Given the description of an element on the screen output the (x, y) to click on. 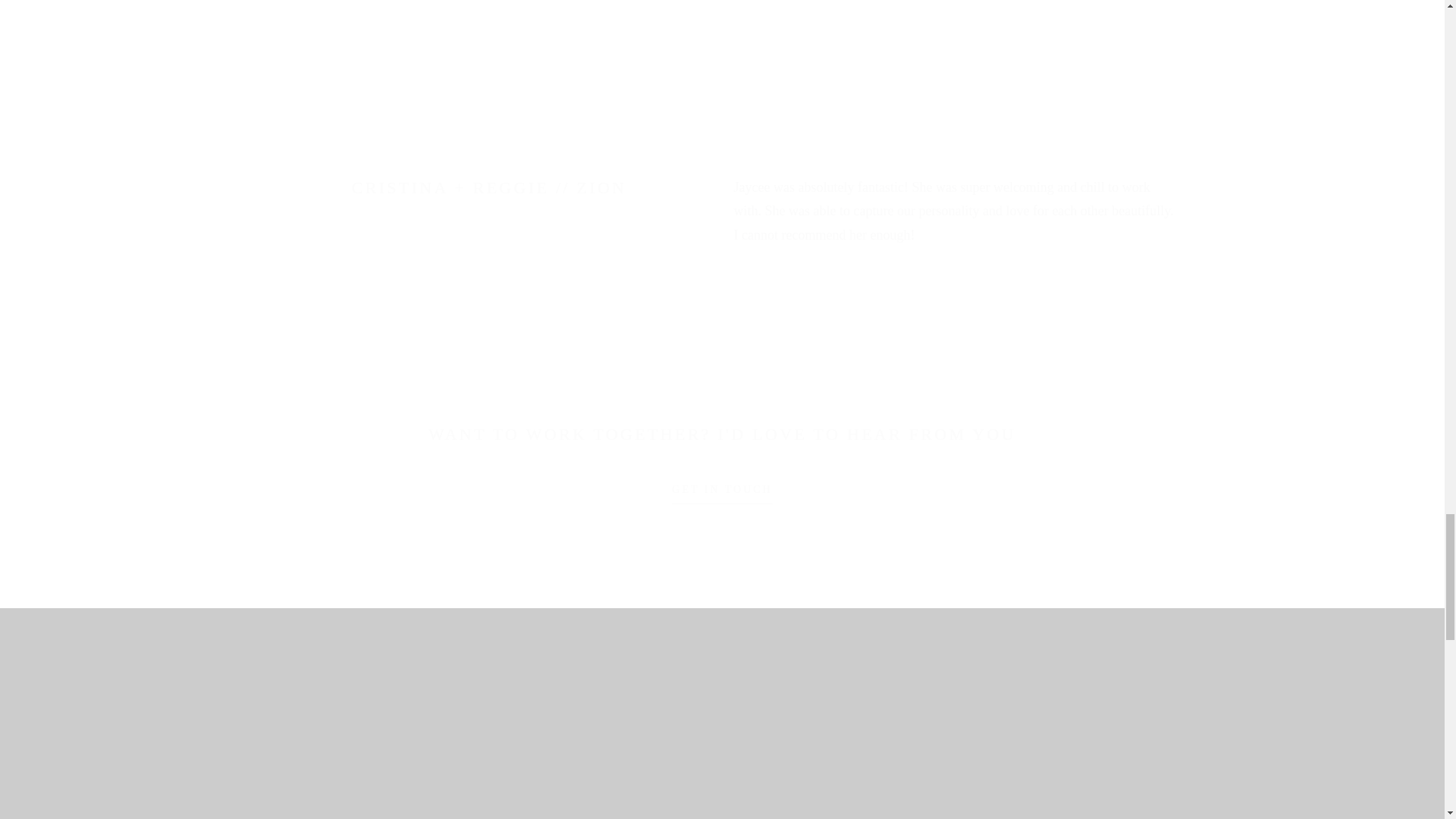
GET IN TOUCH (721, 494)
